Given the description of an element on the screen output the (x, y) to click on. 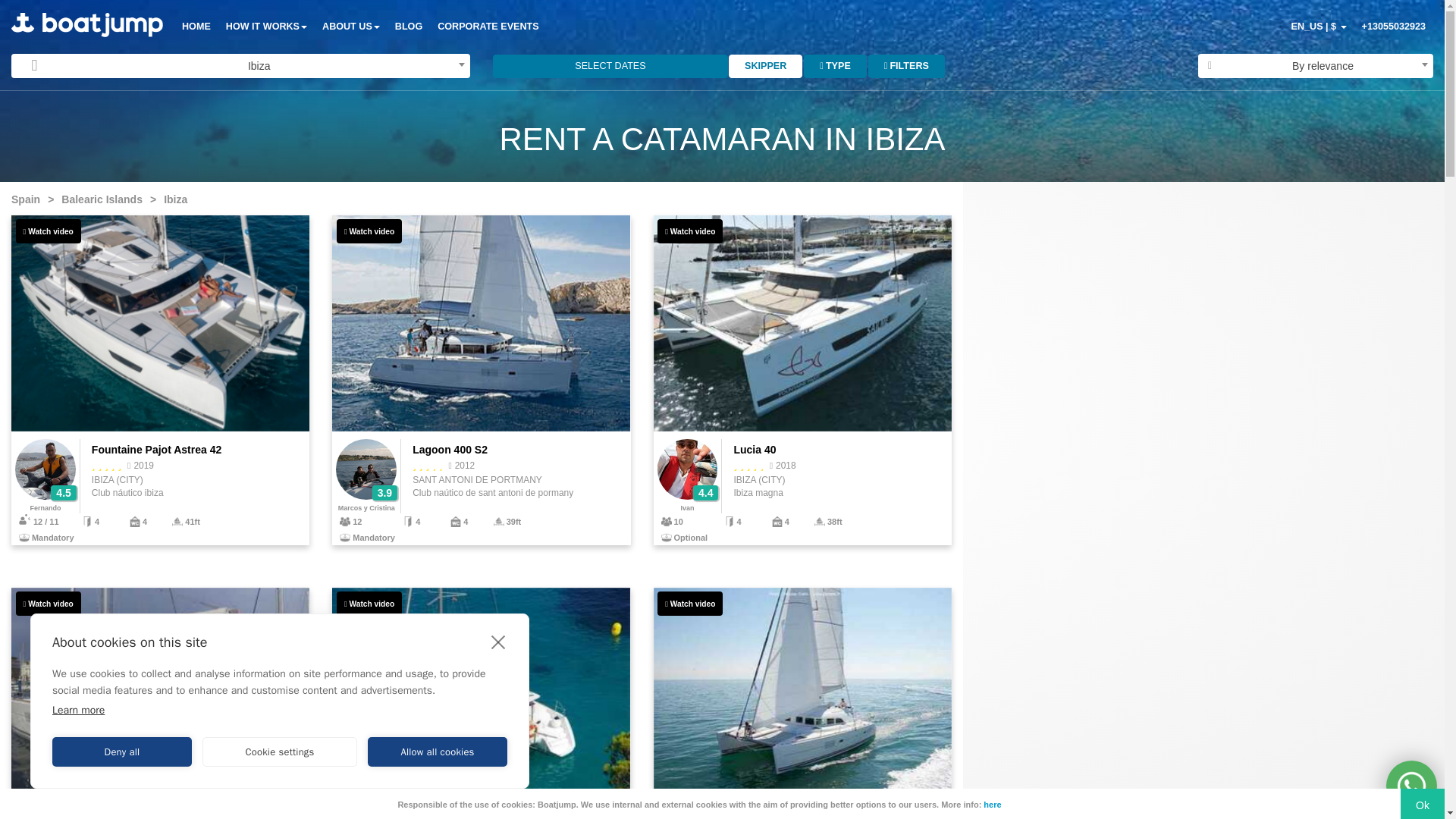
CORPORATE EVENTS (487, 27)
SKIPPER (765, 65)
ABOUT US (350, 27)
Corporate events with Boatjump (487, 27)
About us (350, 27)
HOW IT WORKS (266, 27)
Boatjump blog (408, 27)
SELECT DATES (610, 65)
HOME (196, 27)
Fountaine Pajot Astrea 42 (159, 379)
here (992, 804)
BLOG (408, 27)
Boat rental on boatjump.com (87, 24)
FILTERS (905, 65)
How it works (266, 27)
